Given the description of an element on the screen output the (x, y) to click on. 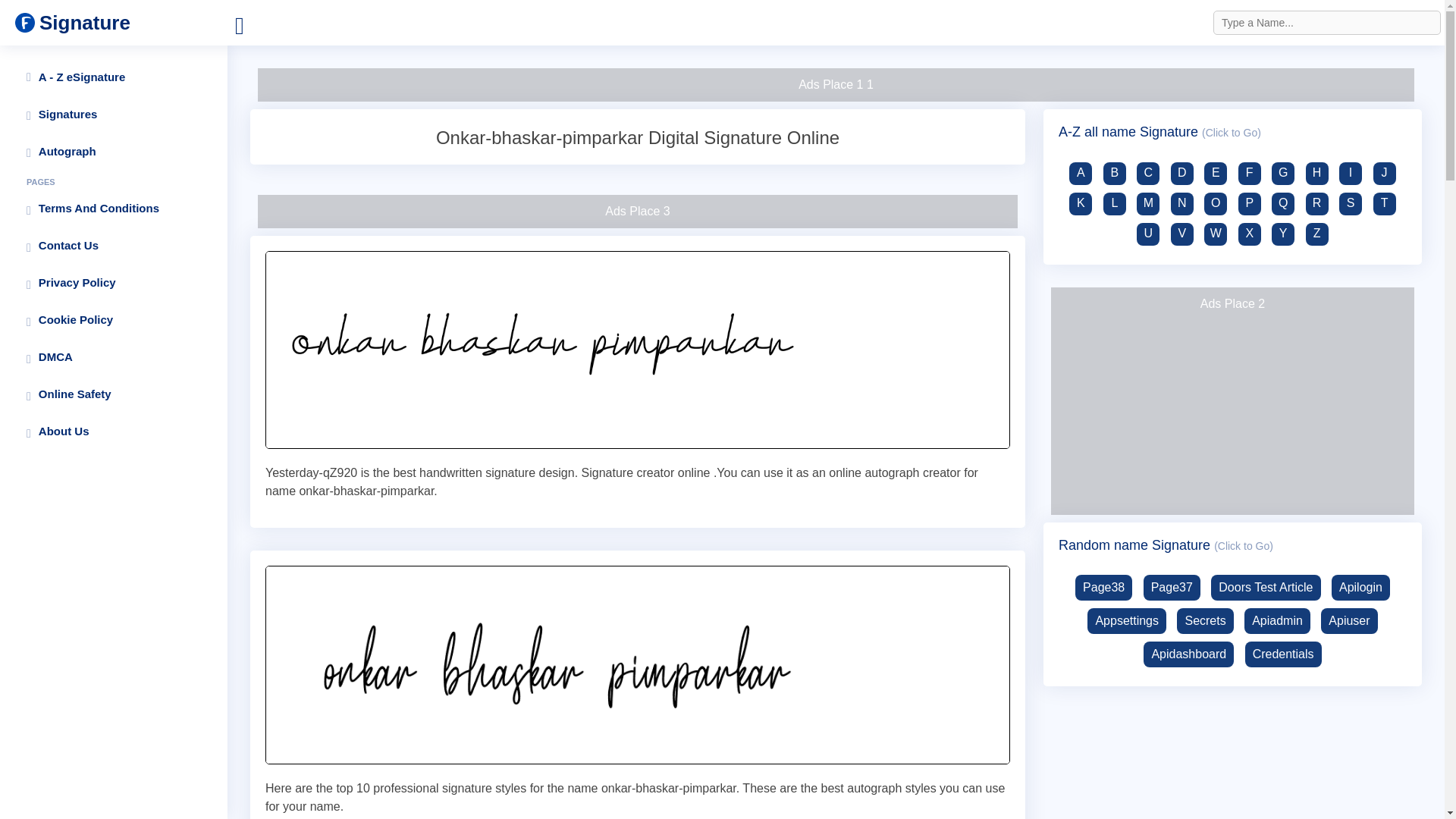
K (1082, 202)
L (1115, 202)
S (1351, 202)
Autograph (113, 151)
M (1149, 202)
U (1149, 232)
F (1251, 172)
D (1183, 172)
Online Safety (113, 394)
C (1149, 172)
